Given the description of an element on the screen output the (x, y) to click on. 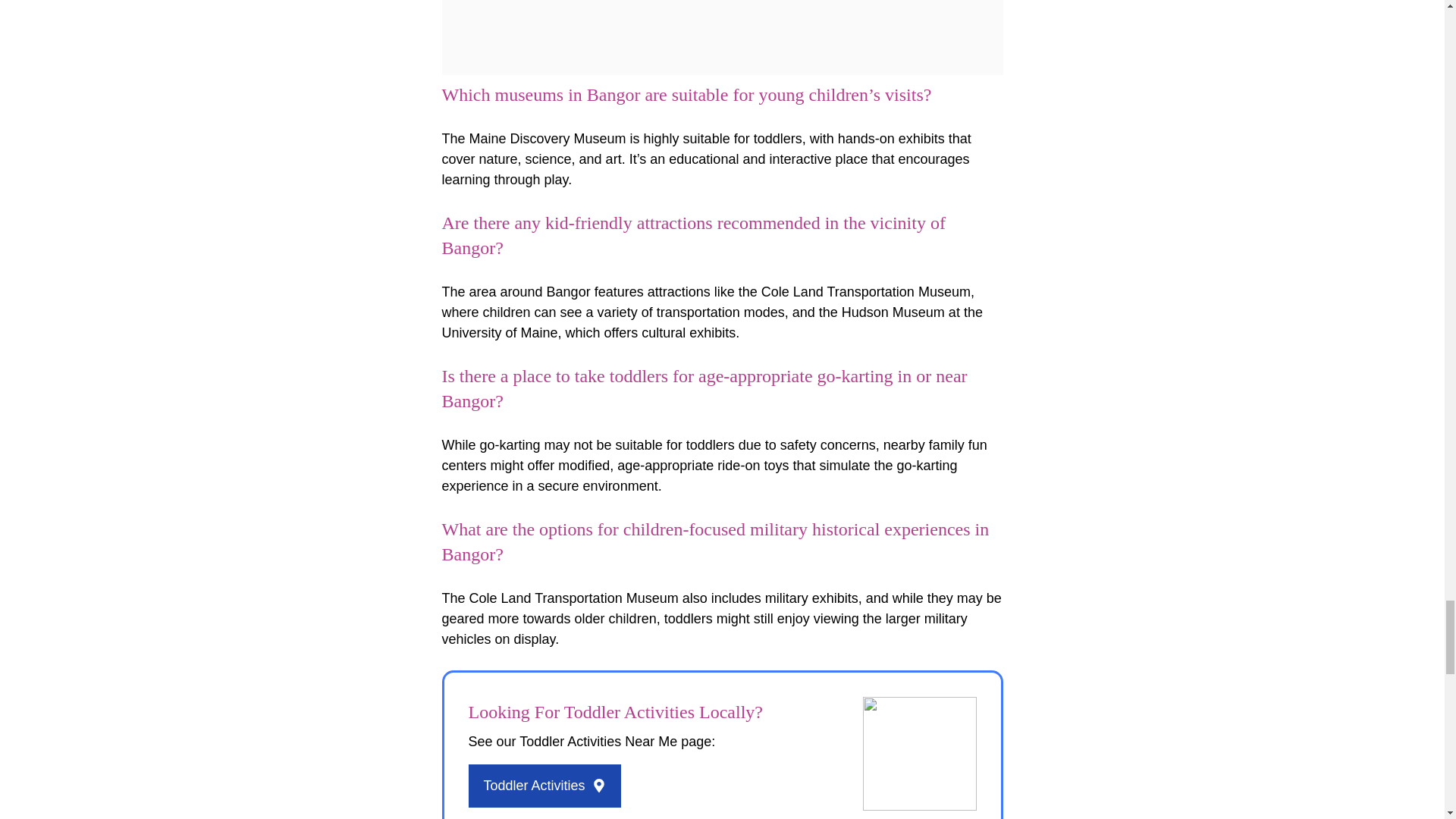
Toddler Activities (544, 785)
toddler activities near me (919, 753)
